Given the description of an element on the screen output the (x, y) to click on. 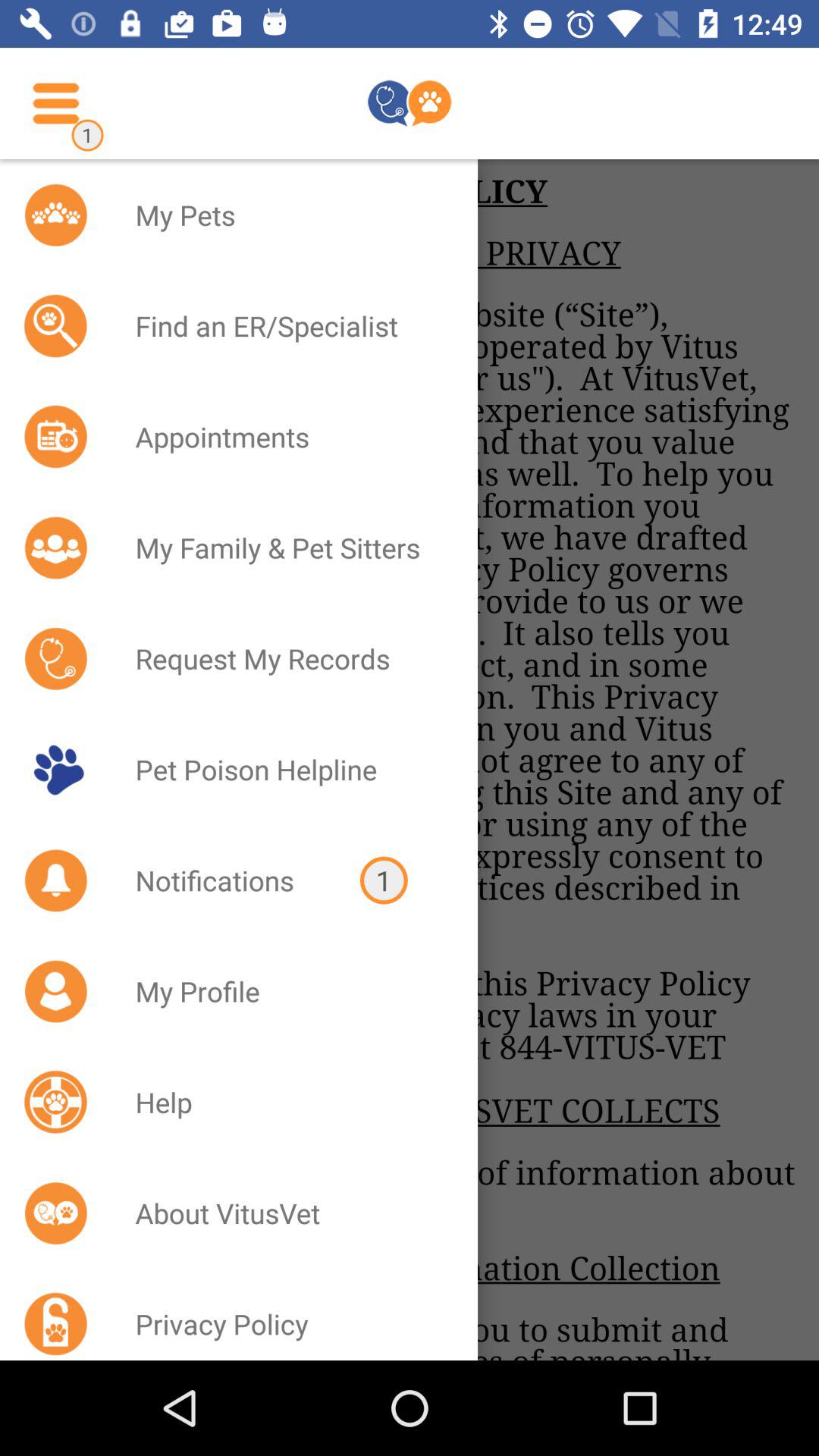
choose icon to the left of the 1 icon (227, 880)
